Given the description of an element on the screen output the (x, y) to click on. 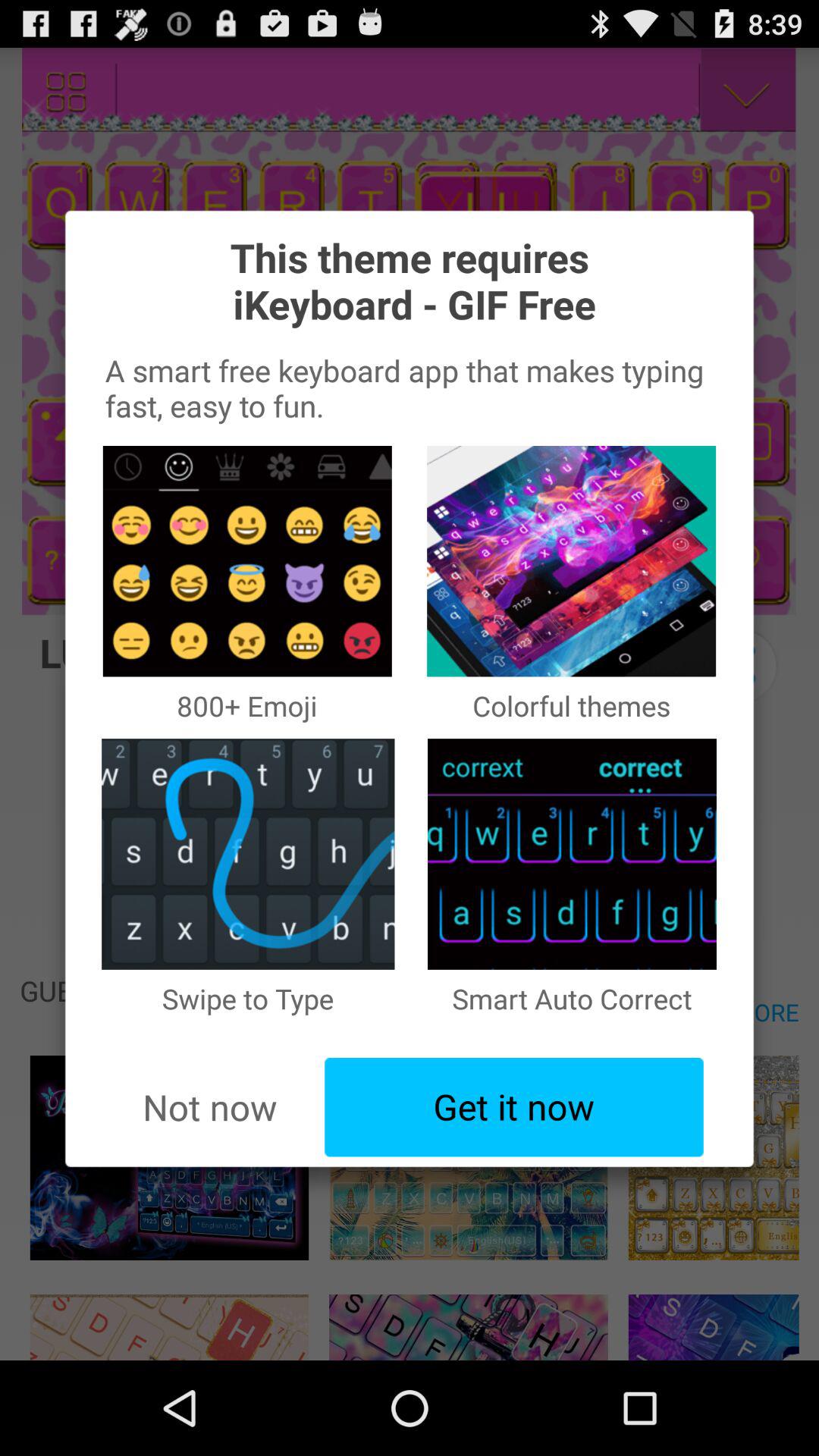
launch the icon next to the not now item (513, 1106)
